Given the description of an element on the screen output the (x, y) to click on. 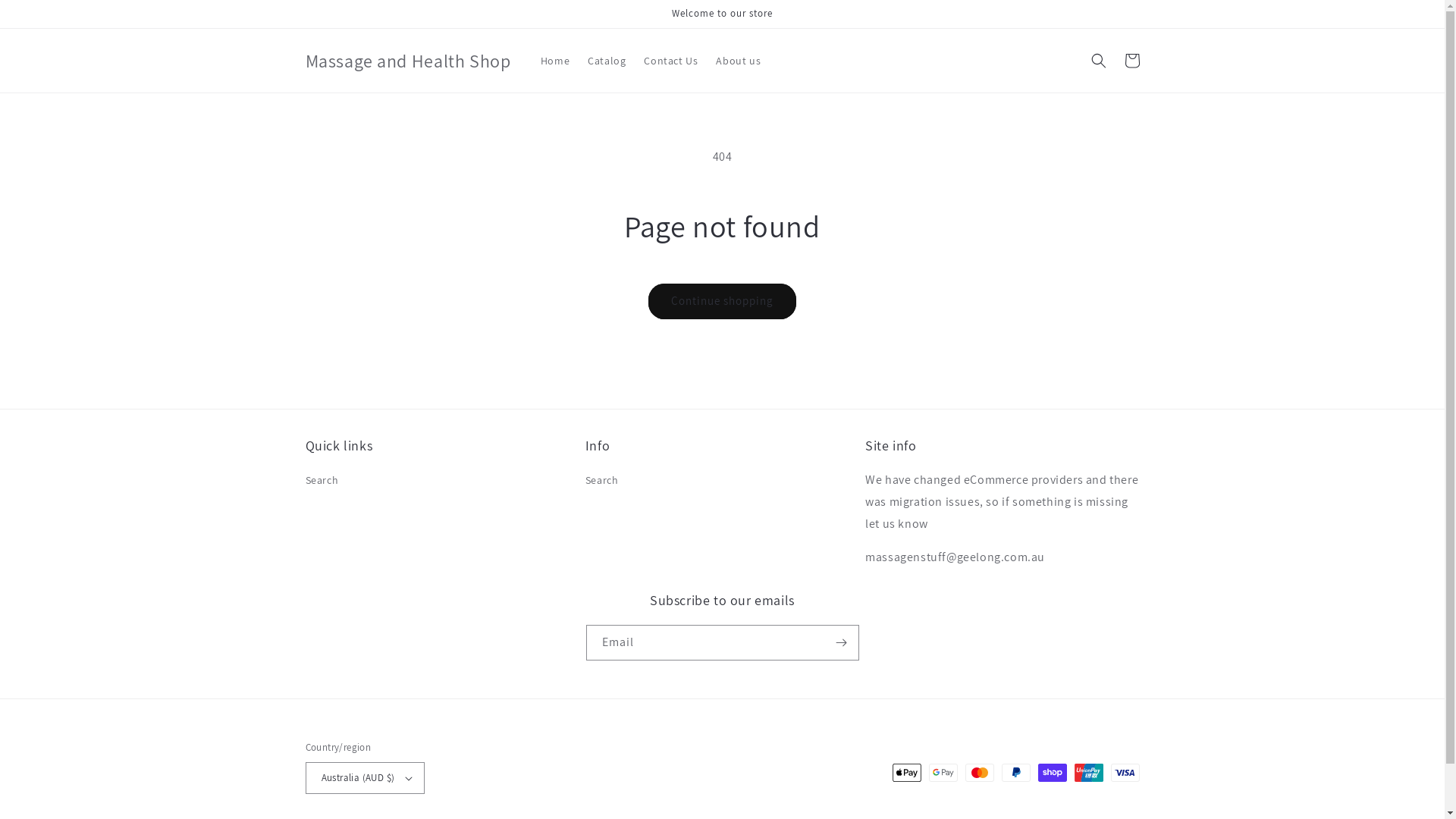
About us Element type: text (737, 60)
Cart Element type: text (1131, 60)
Australia (AUD $) Element type: text (364, 777)
Catalog Element type: text (606, 60)
Search Element type: text (321, 481)
Continue shopping Element type: text (722, 301)
Contact Us Element type: text (670, 60)
Home Element type: text (554, 60)
Search Element type: text (601, 481)
Massage and Health Shop Element type: text (407, 60)
